Given the description of an element on the screen output the (x, y) to click on. 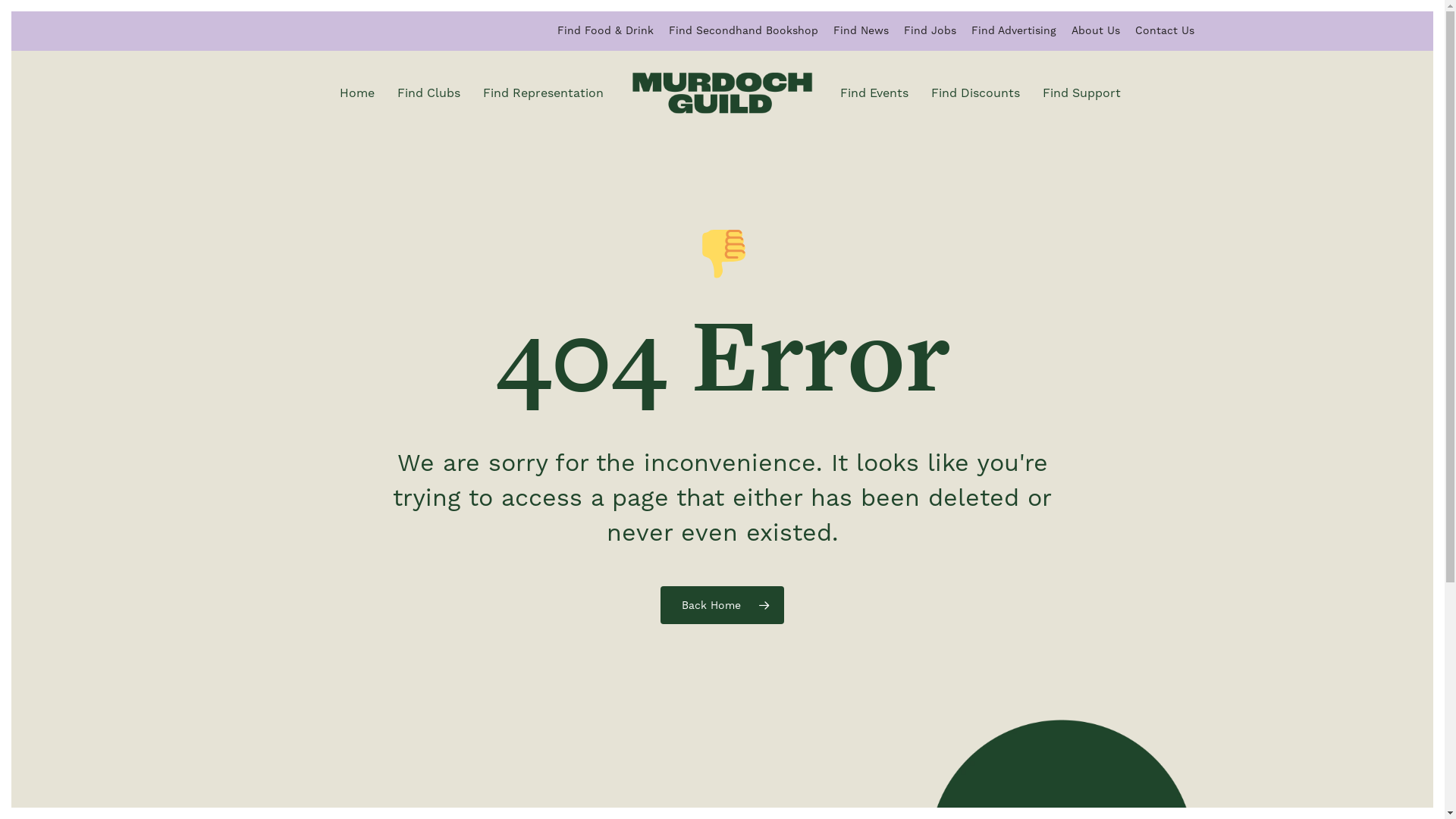
Find Advertising Element type: text (1013, 29)
Find Secondhand Bookshop Element type: text (743, 29)
About Us Element type: text (1095, 29)
Find Events Element type: text (873, 92)
Find Clubs Element type: text (428, 92)
Home Element type: text (356, 92)
Back Home Element type: text (722, 604)
Find Discounts Element type: text (975, 92)
Find News Element type: text (860, 29)
Contact Us Element type: text (1164, 29)
Find Jobs Element type: text (929, 29)
Find Representation Element type: text (543, 92)
Find Food & Drink Element type: text (605, 29)
Find Support Element type: text (1081, 92)
